Given the description of an element on the screen output the (x, y) to click on. 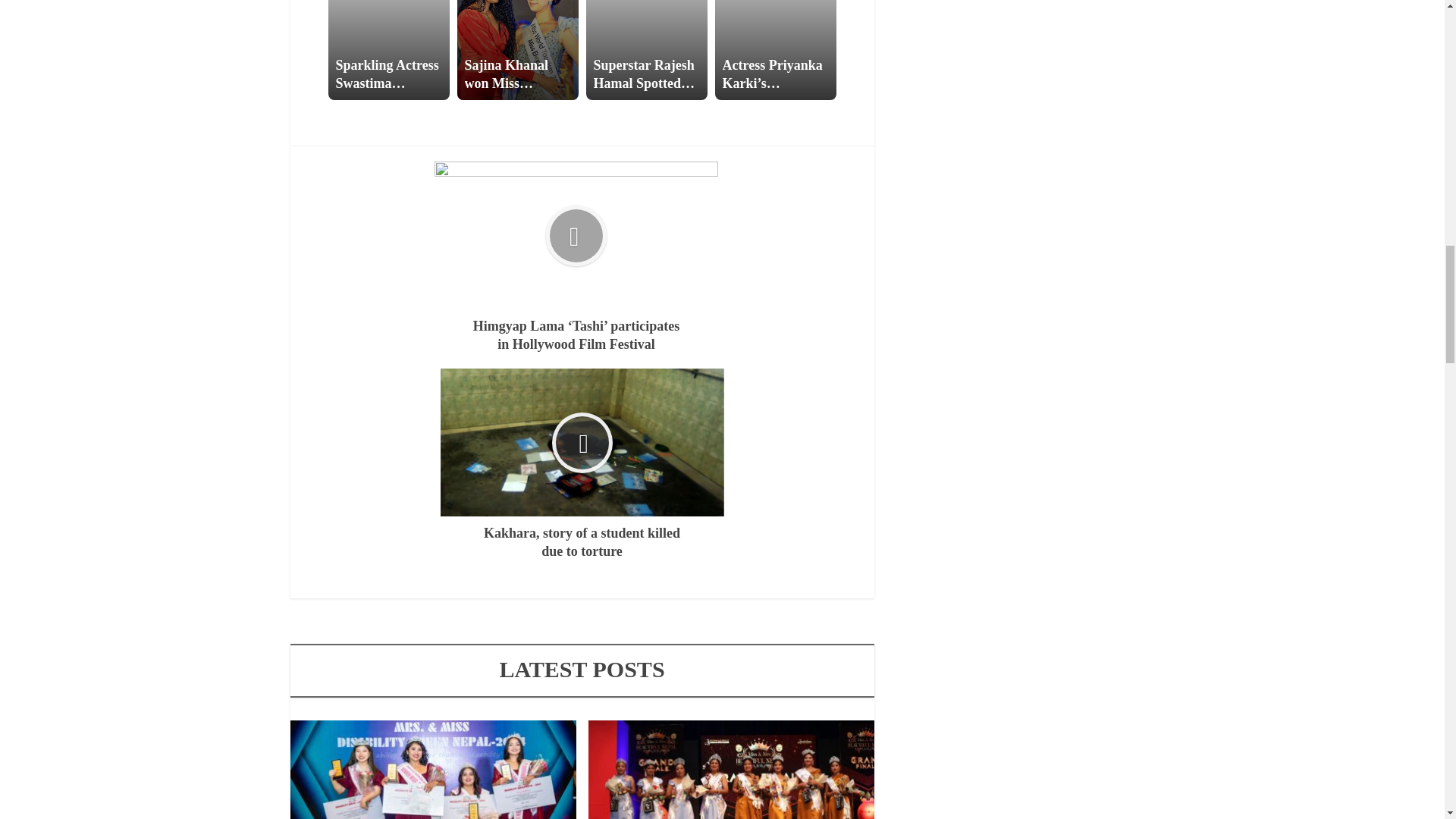
Kakhara, story of a student killed due to torture (581, 464)
